Given the description of an element on the screen output the (x, y) to click on. 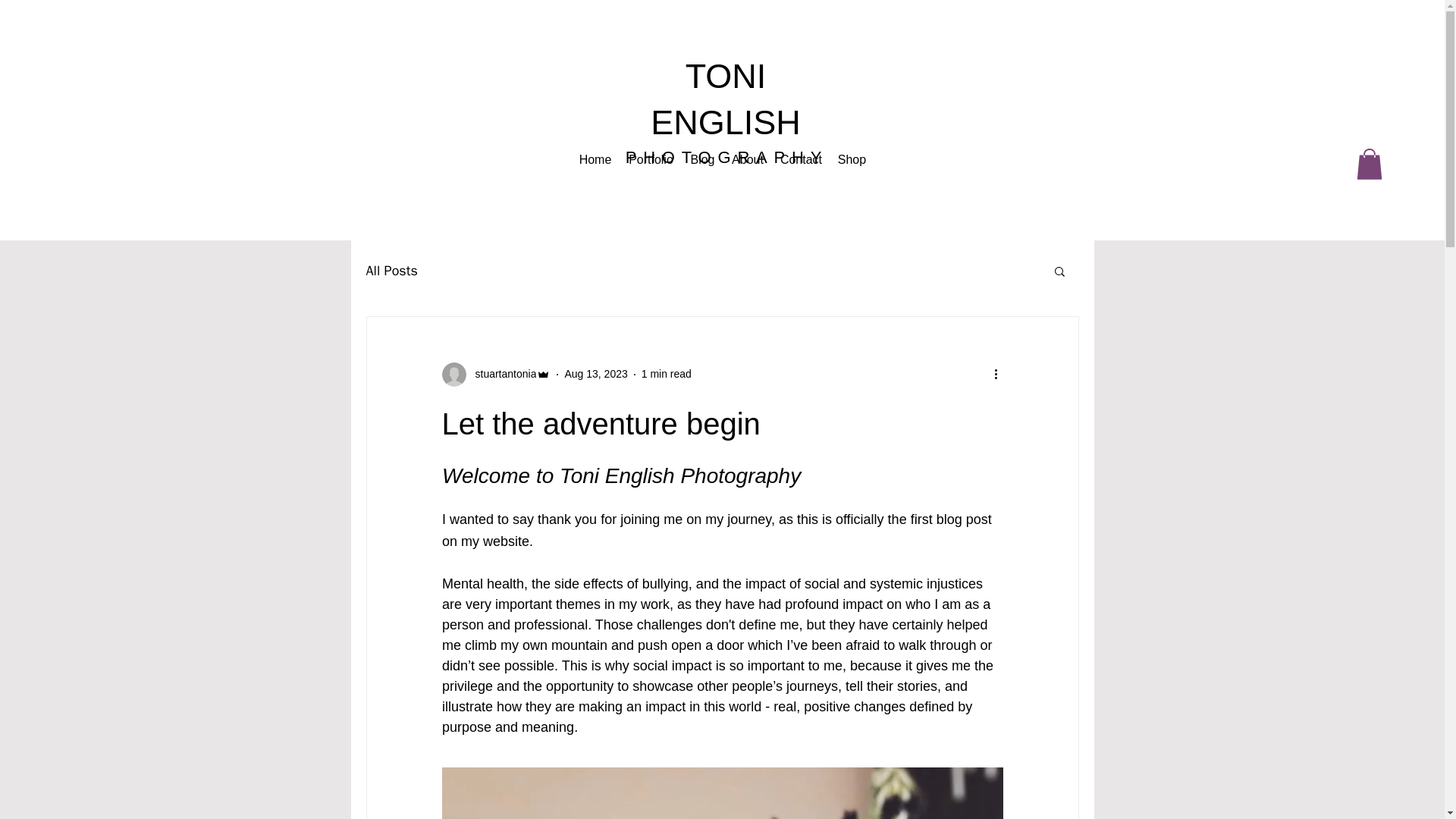
Portfolio (650, 159)
Blog (701, 159)
Home (595, 159)
Contact (800, 159)
About (746, 159)
stuartantonia (495, 374)
All Posts (390, 270)
1 min read (666, 373)
stuartantonia (500, 374)
Aug 13, 2023 (595, 373)
